Given the description of an element on the screen output the (x, y) to click on. 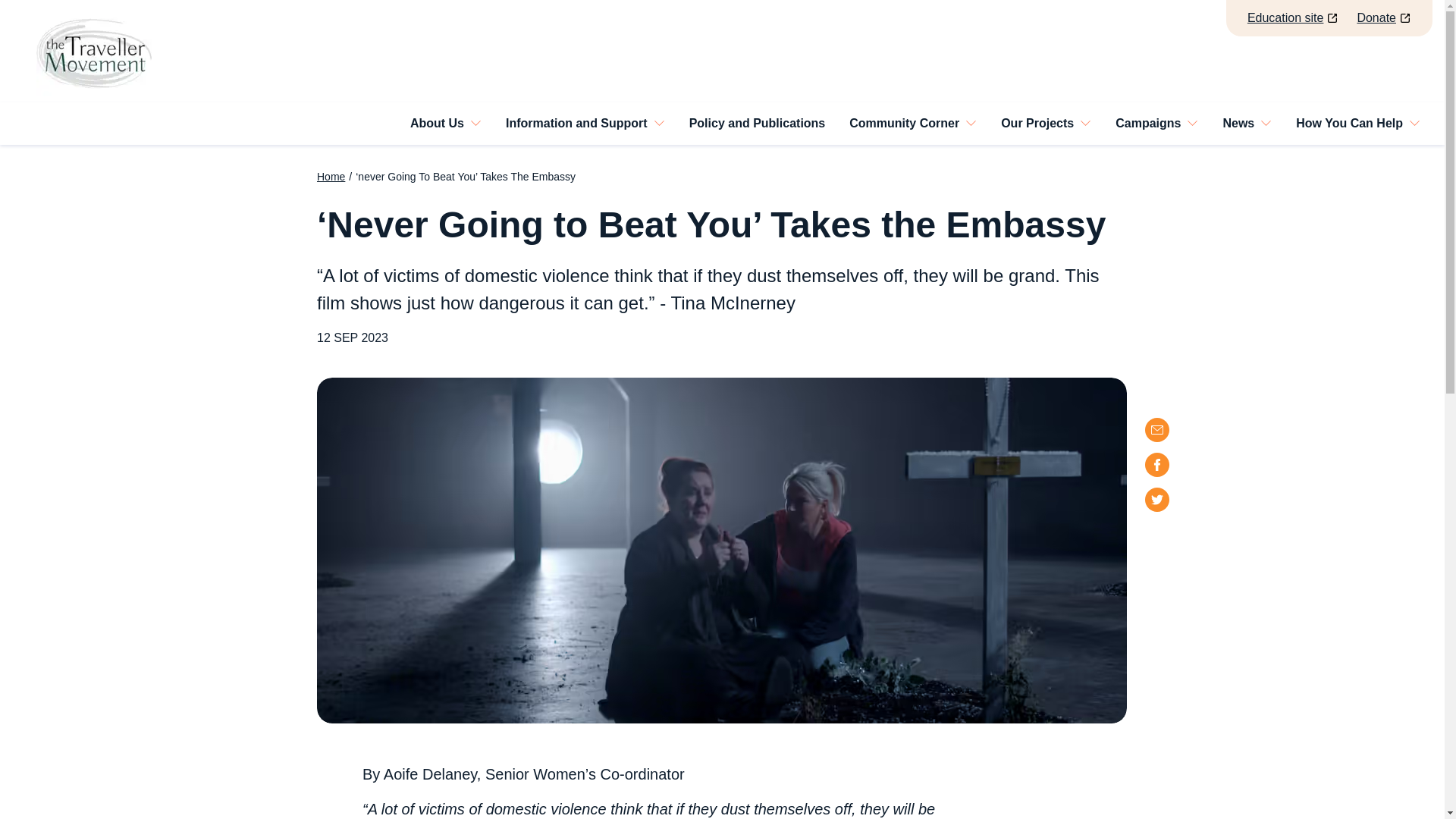
Policy and Publications (757, 123)
Information and Support (585, 123)
Campaigns (1156, 123)
About Us (445, 123)
News (1246, 123)
Community Corner (912, 123)
How You Can Help (1358, 123)
Donate (1383, 18)
Home (331, 176)
Our Projects (1045, 123)
